Given the description of an element on the screen output the (x, y) to click on. 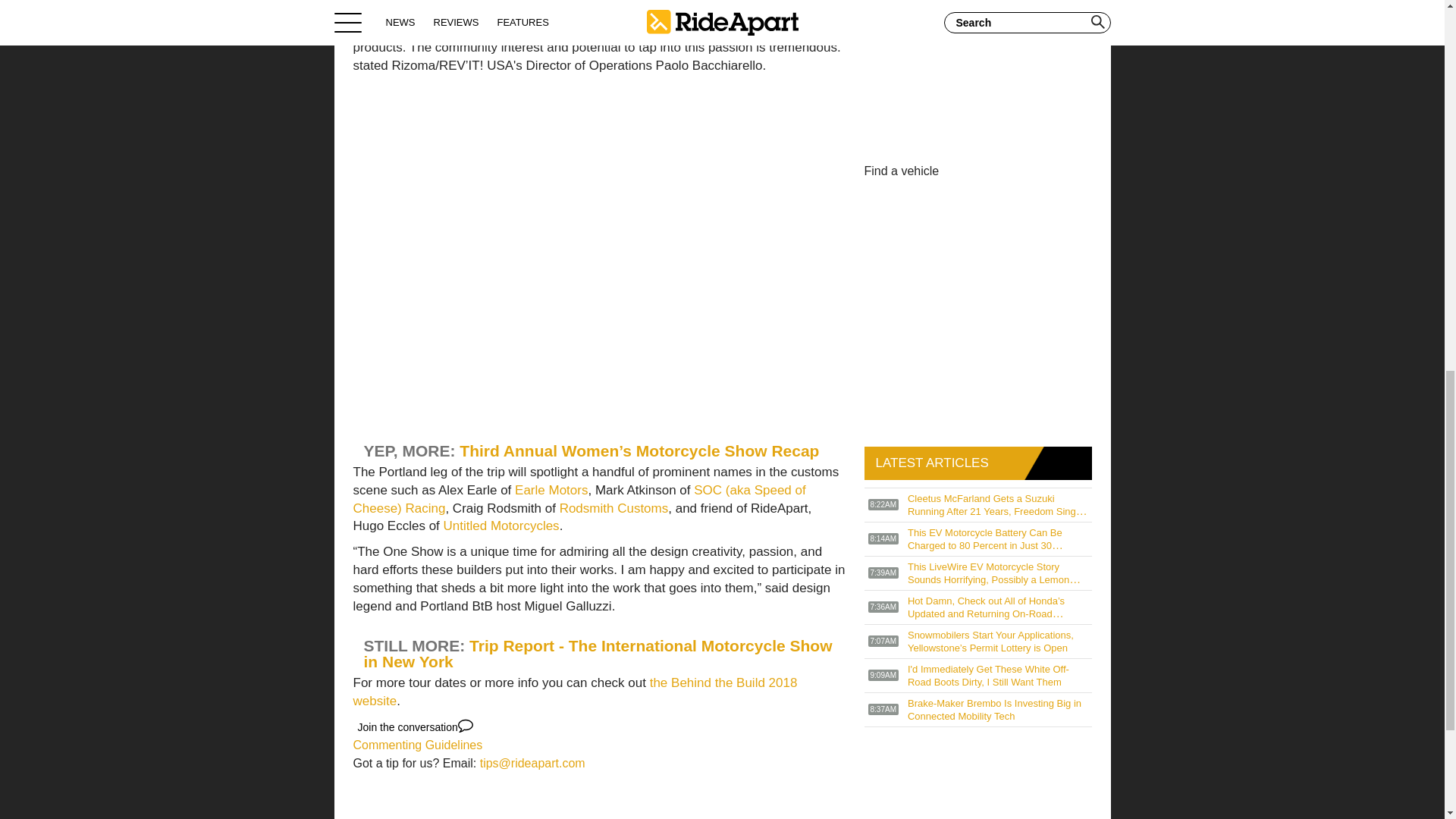
Untitled Motorcycles (501, 525)
Rodsmith Customs (613, 508)
Earle Motors (551, 490)
the Behind the Build 2018 website (575, 691)
Trip Report - The International Motorcycle Show in New York (598, 653)
